Given the description of an element on the screen output the (x, y) to click on. 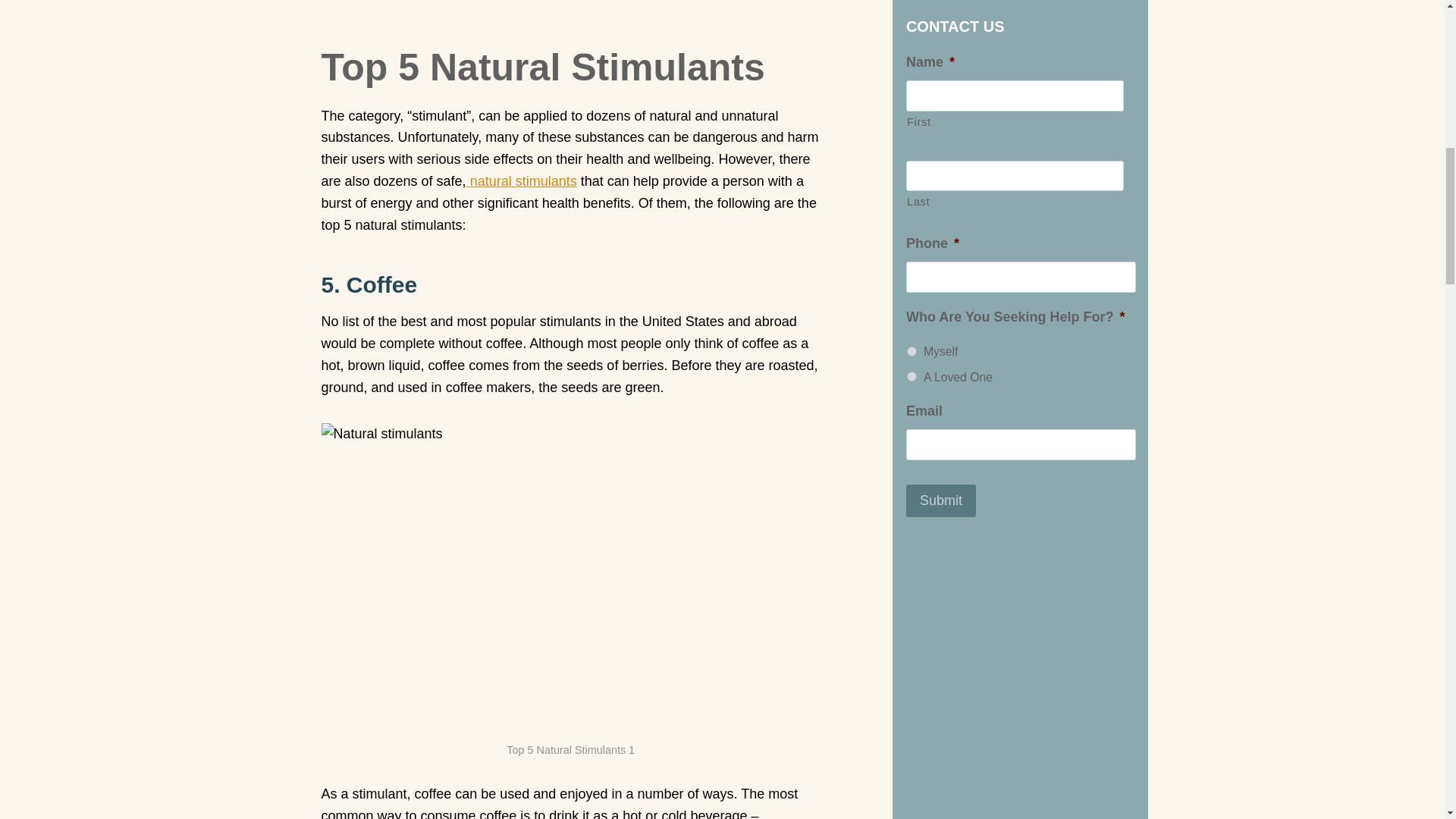
Submit (940, 3)
